Given the description of an element on the screen output the (x, y) to click on. 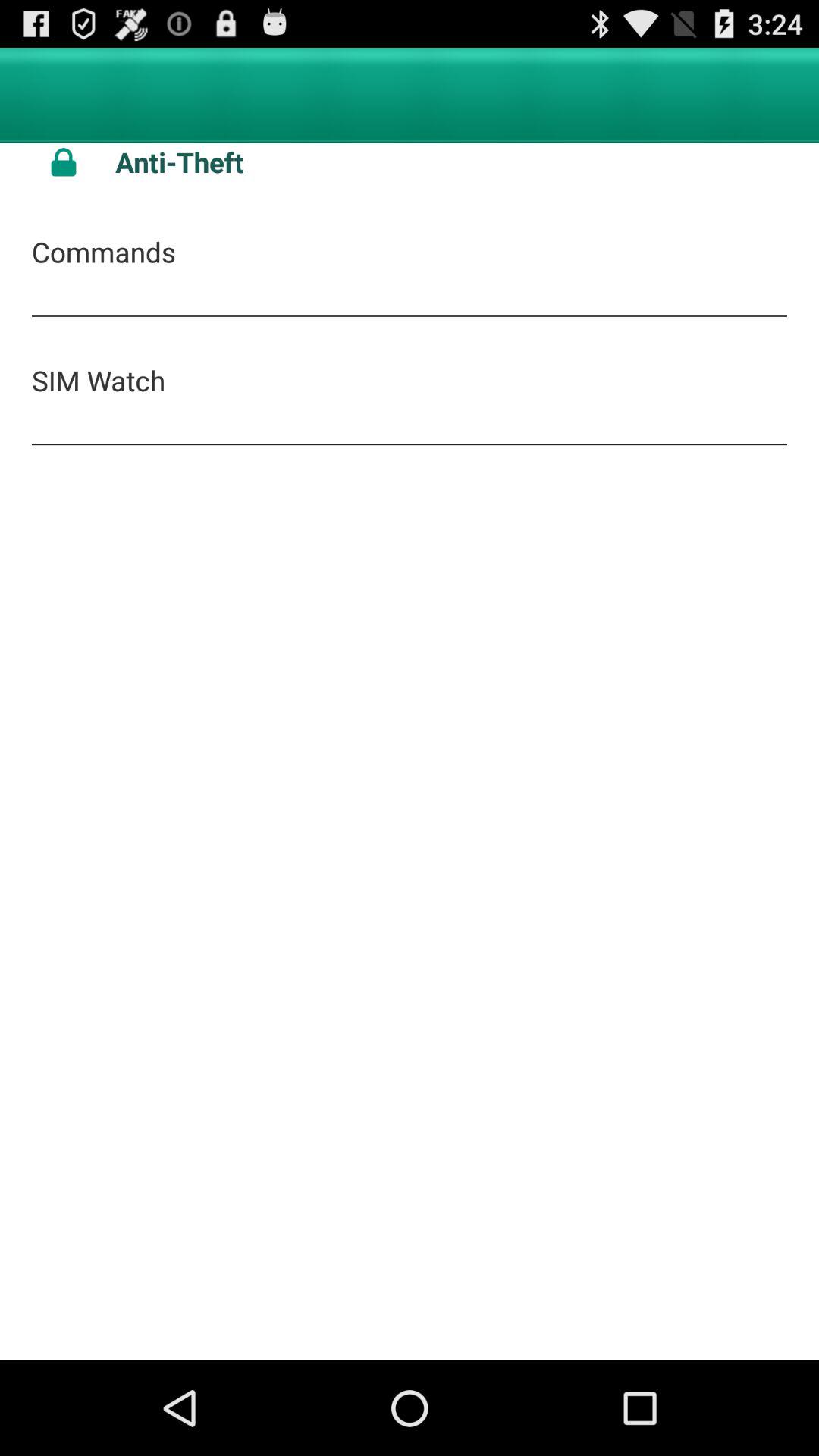
choose icon to the left of the anti-theft icon (63, 161)
